Given the description of an element on the screen output the (x, y) to click on. 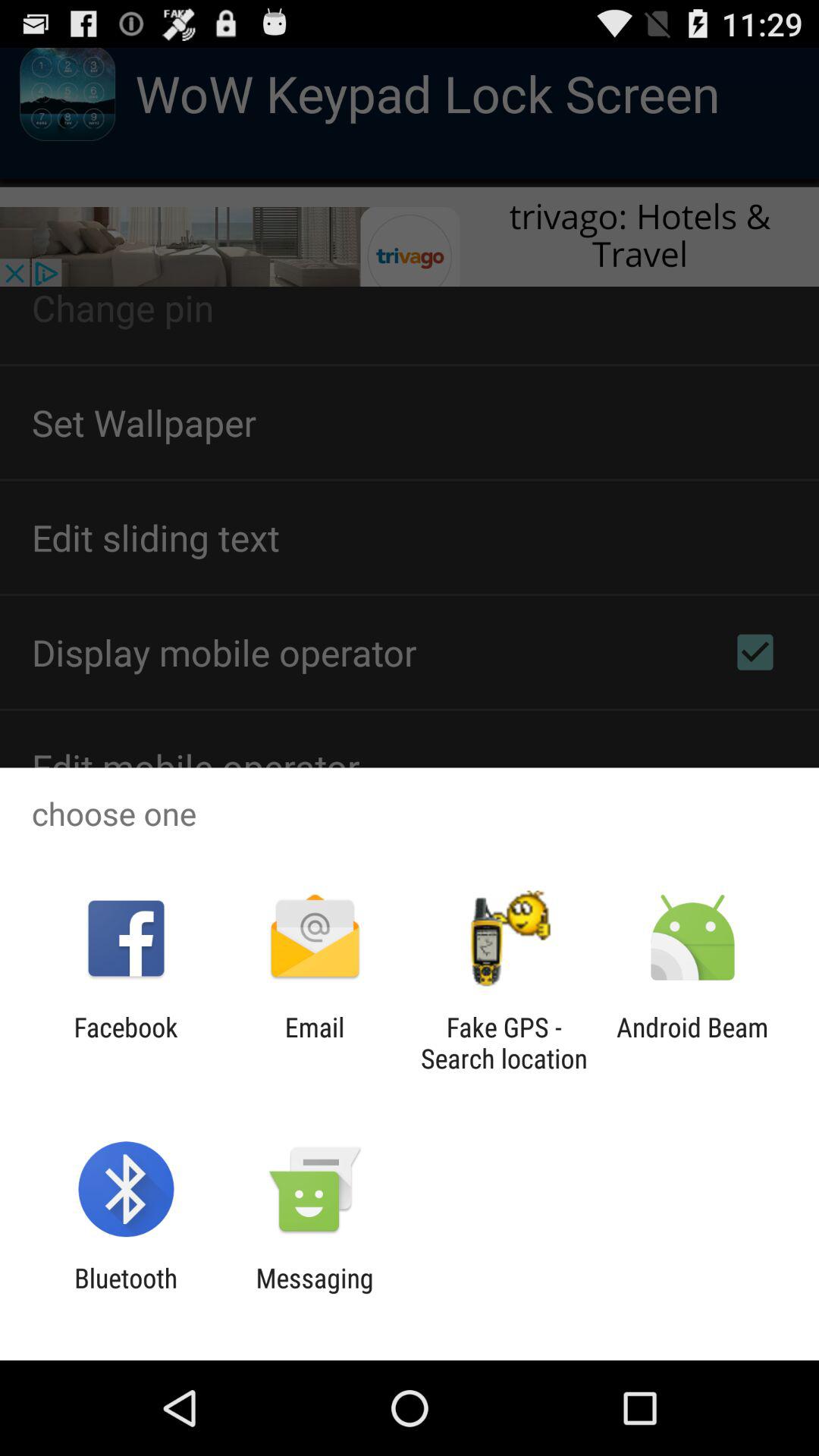
launch item next to bluetooth icon (314, 1293)
